Given the description of an element on the screen output the (x, y) to click on. 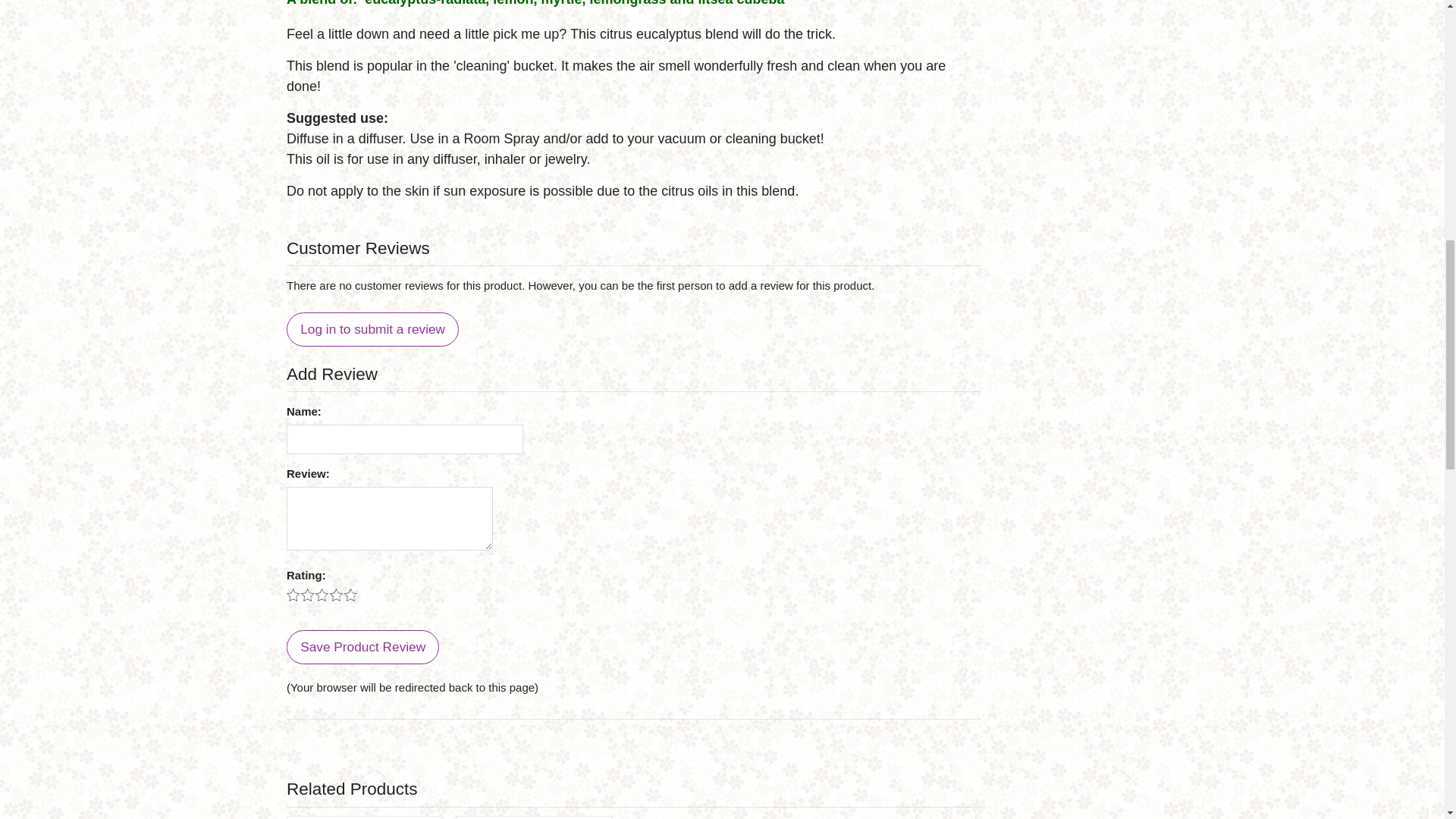
Save Product Review (362, 646)
